Given the description of an element on the screen output the (x, y) to click on. 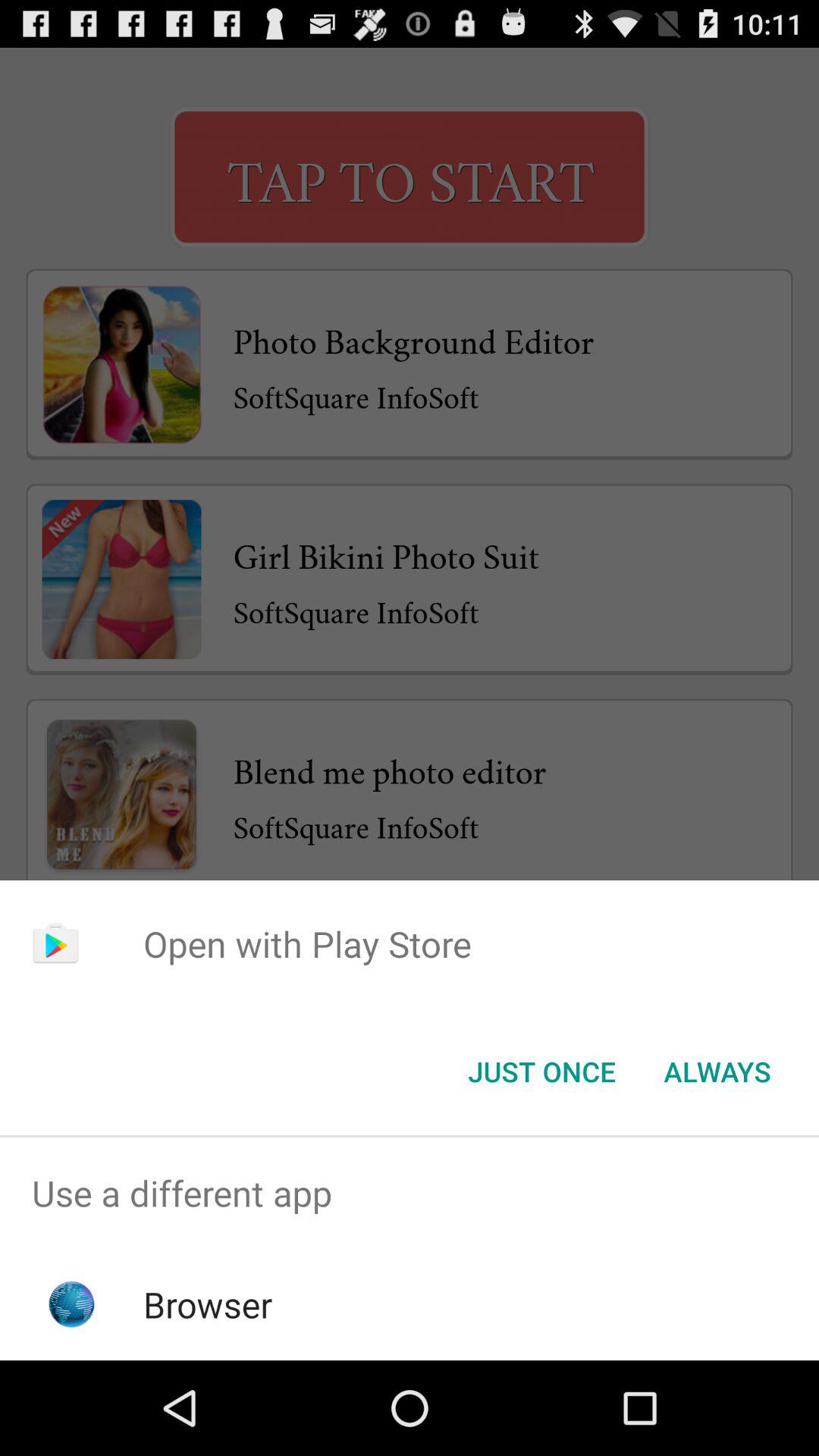
launch icon below the open with play icon (541, 1071)
